Given the description of an element on the screen output the (x, y) to click on. 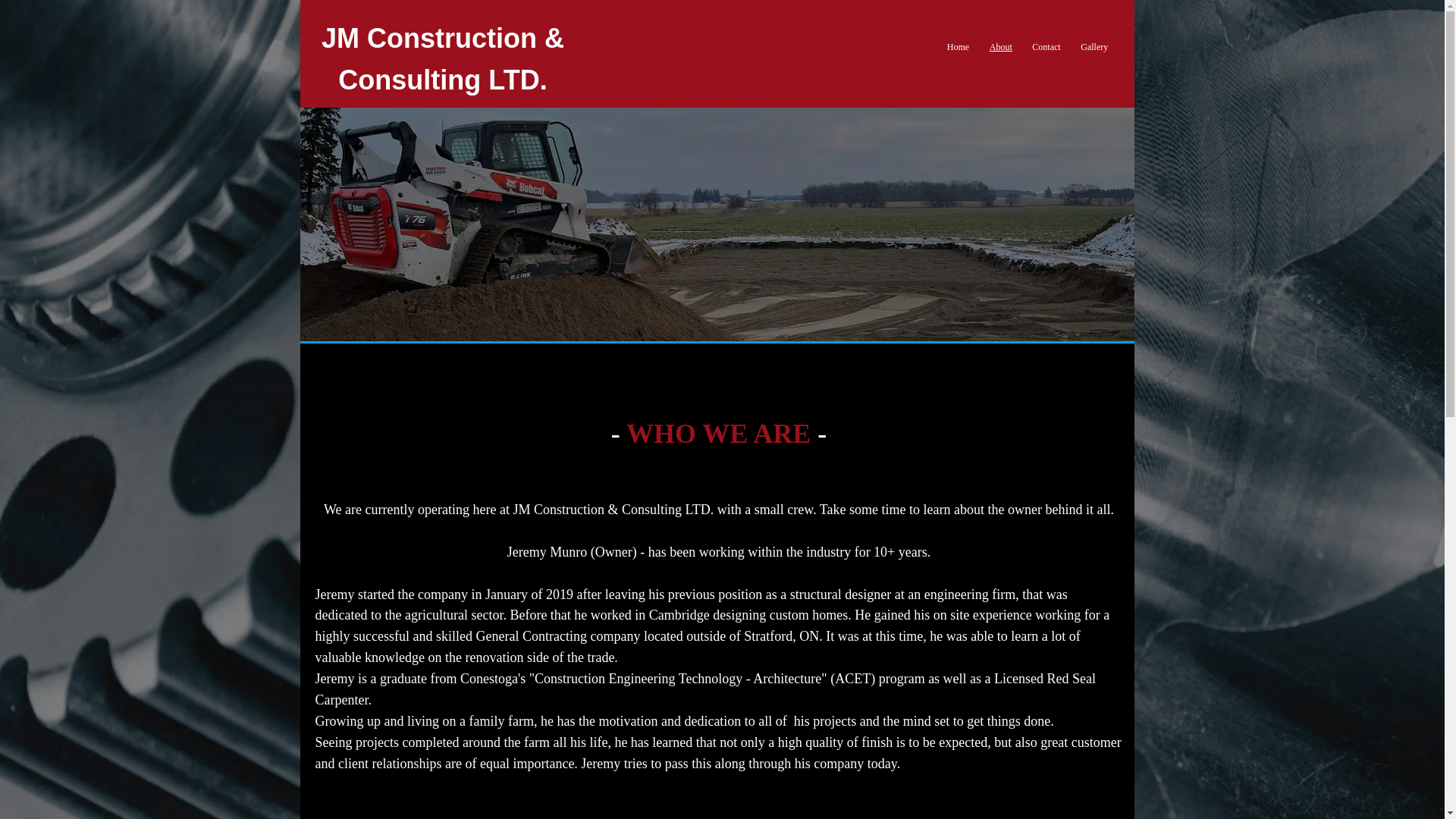
Gallery (1094, 47)
About (1000, 47)
Home (958, 47)
Contact (1046, 47)
